Given the description of an element on the screen output the (x, y) to click on. 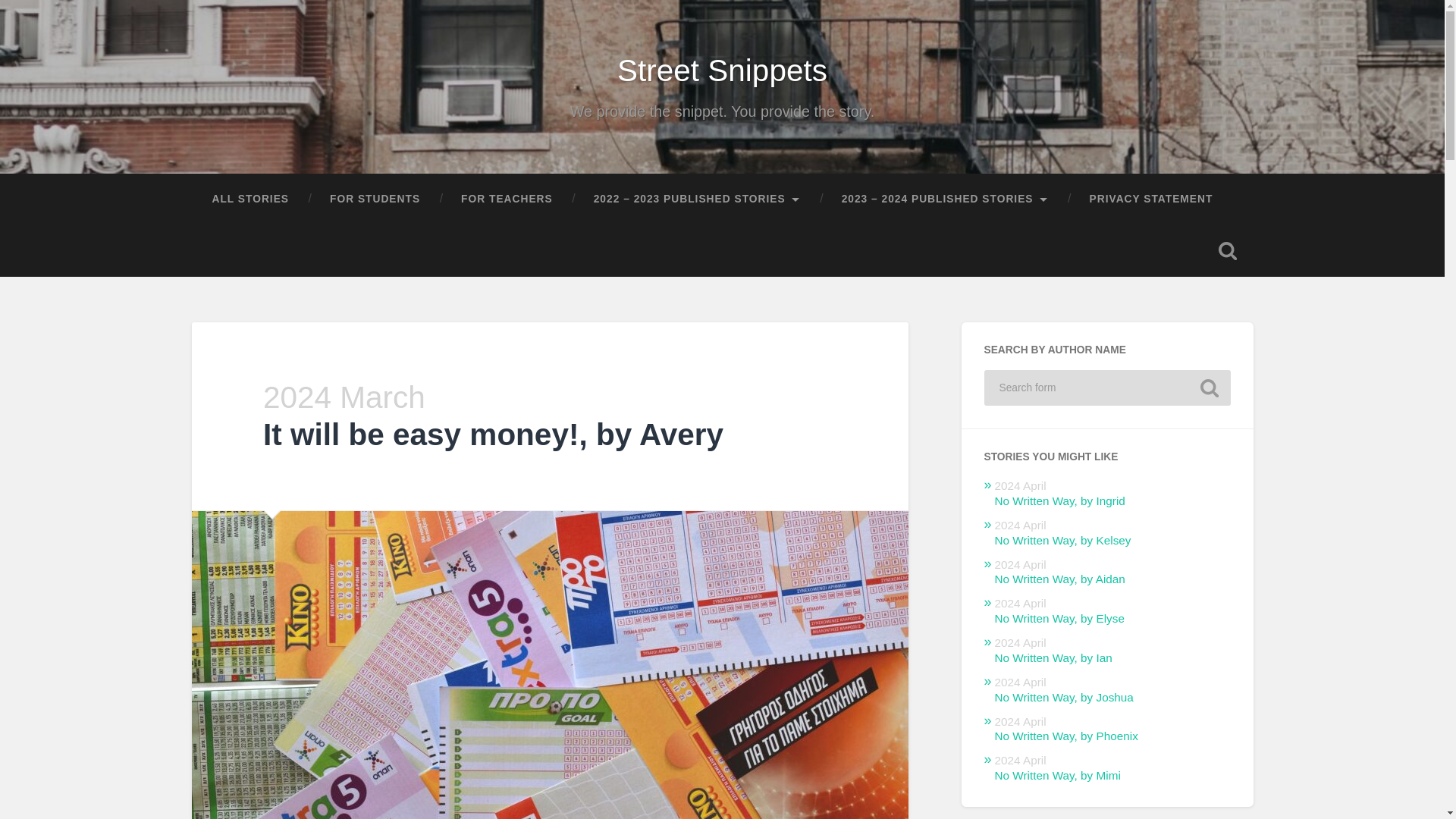
FOR STUDENTS (374, 199)
ALL STORIES (249, 199)
FOR TEACHERS (507, 199)
Search (1209, 388)
Street Snippets (722, 70)
PRIVACY STATEMENT (1150, 199)
Search (1209, 388)
